Given the description of an element on the screen output the (x, y) to click on. 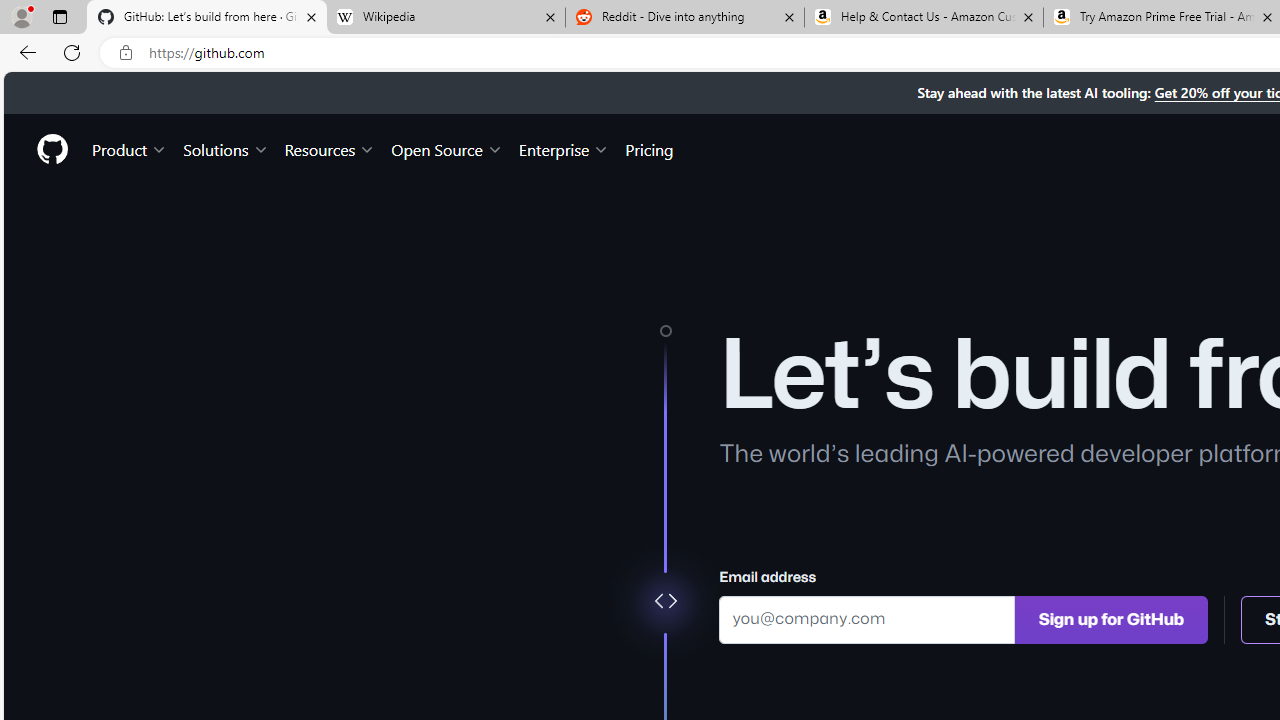
Open Source (446, 148)
Enterprise (563, 148)
Email address (867, 618)
Solutions (225, 148)
Open Source (446, 148)
Product (130, 148)
